Given the description of an element on the screen output the (x, y) to click on. 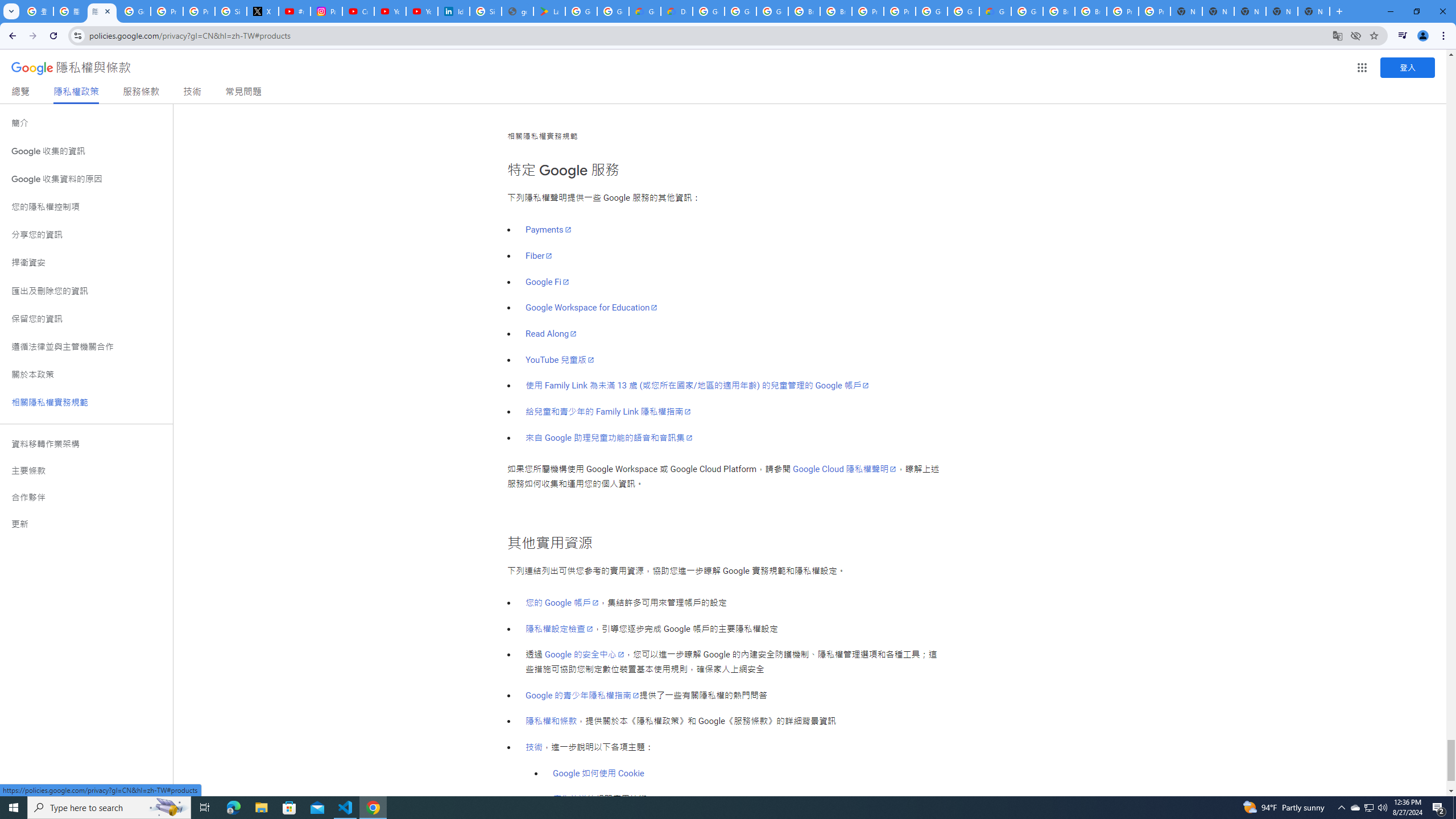
Google Cloud Platform (1027, 11)
Payments (548, 229)
Google Workspace - Specific Terms (613, 11)
